Given the description of an element on the screen output the (x, y) to click on. 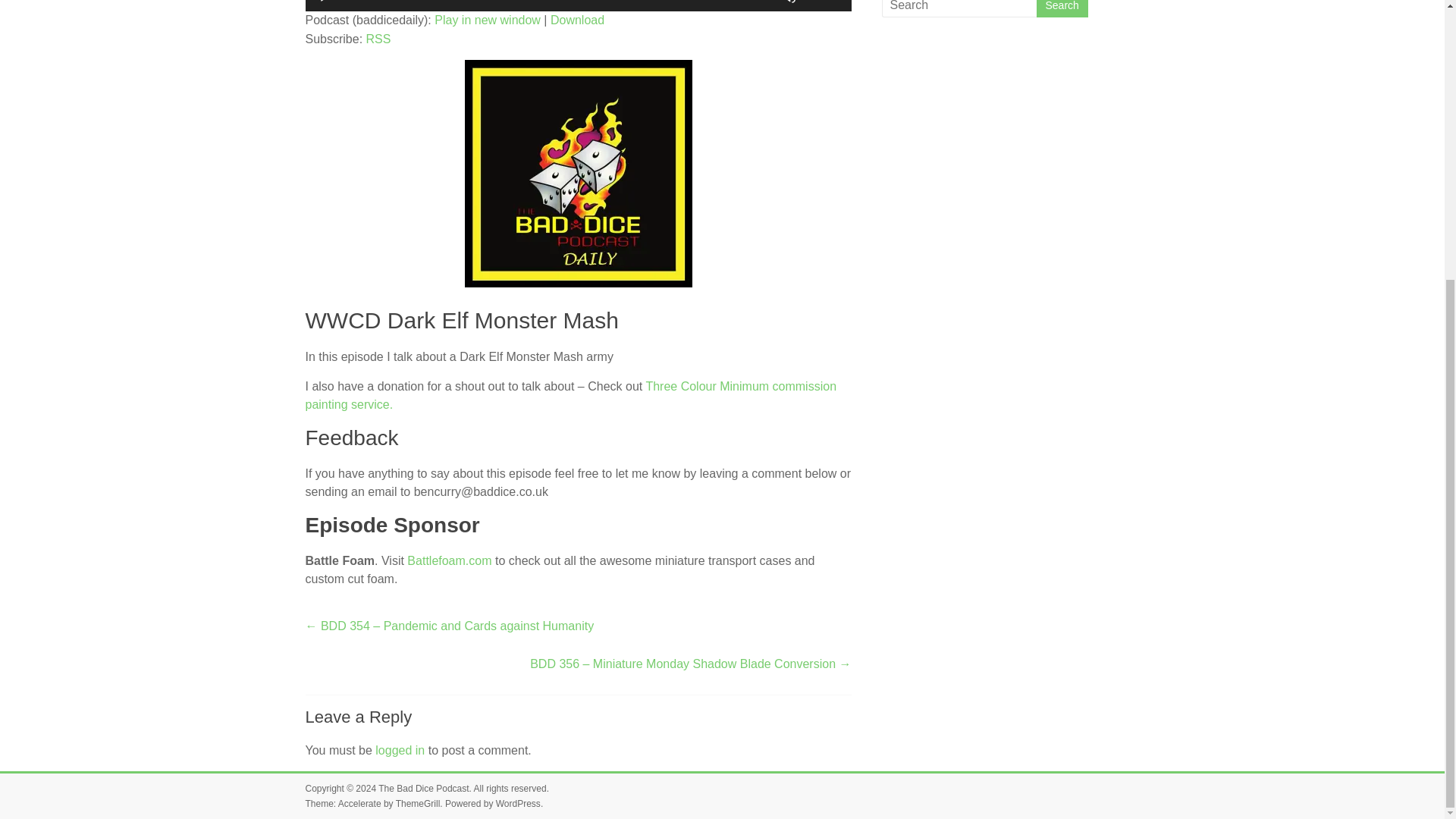
Download (577, 19)
Search (1061, 8)
Download (577, 19)
Subscribe via RSS (378, 38)
Play in new window (486, 19)
WordPress (518, 803)
Play (324, 2)
Search (1061, 8)
Three Colour Minimum commission painting service. (569, 395)
Battlefoam.com (449, 560)
Play in new window (486, 19)
Mute (788, 2)
Accelerate (359, 803)
logged in (400, 749)
The Bad Dice Podcast (423, 787)
